Given the description of an element on the screen output the (x, y) to click on. 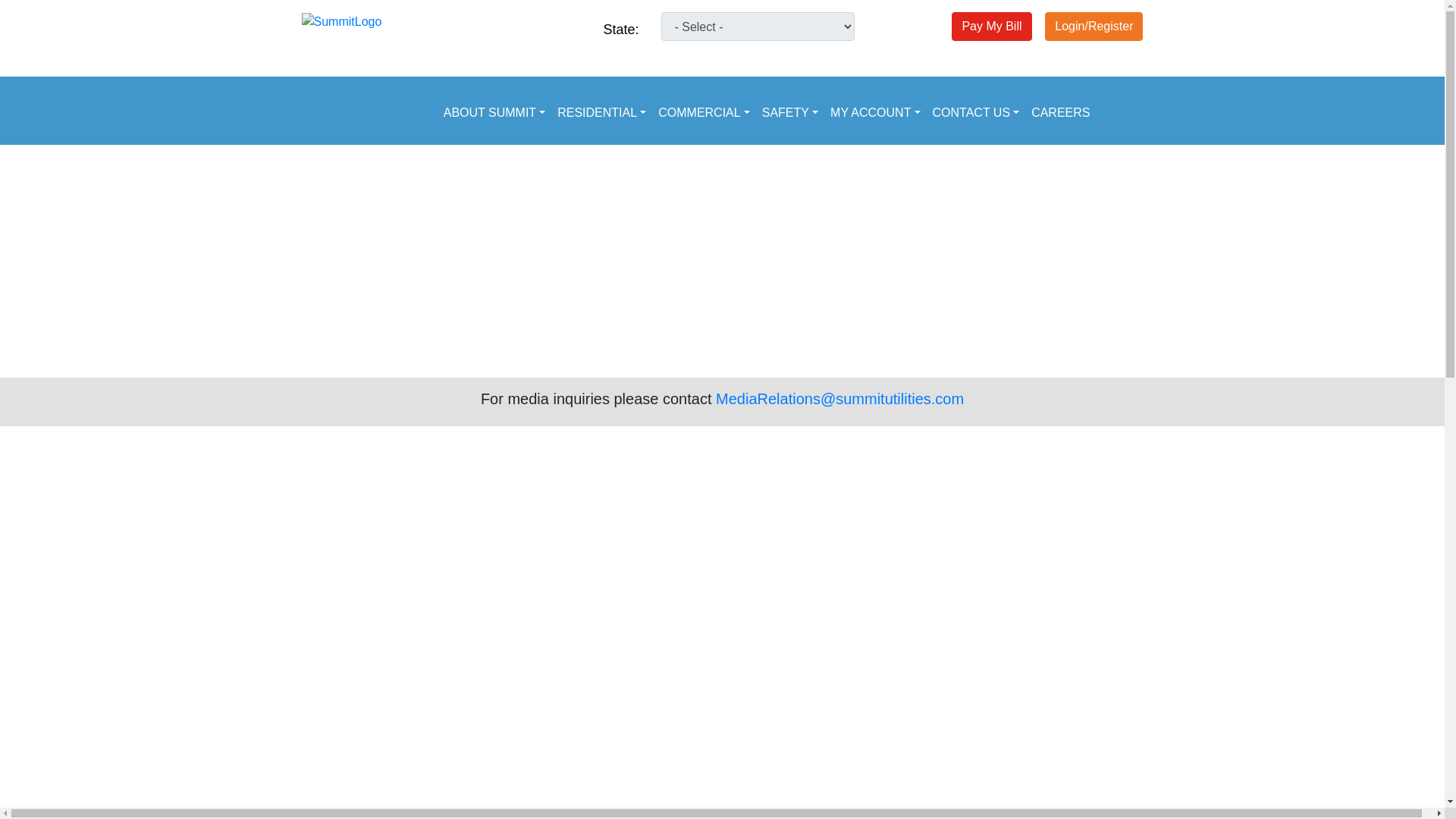
RESIDENTIAL (601, 112)
COMMERCIAL (703, 112)
Open image in original size (341, 20)
Pay My Bill (991, 24)
SummitLogo (341, 22)
SAFETY (789, 112)
MY ACCOUNT (875, 112)
ABOUT SUMMIT (494, 112)
